Given the description of an element on the screen output the (x, y) to click on. 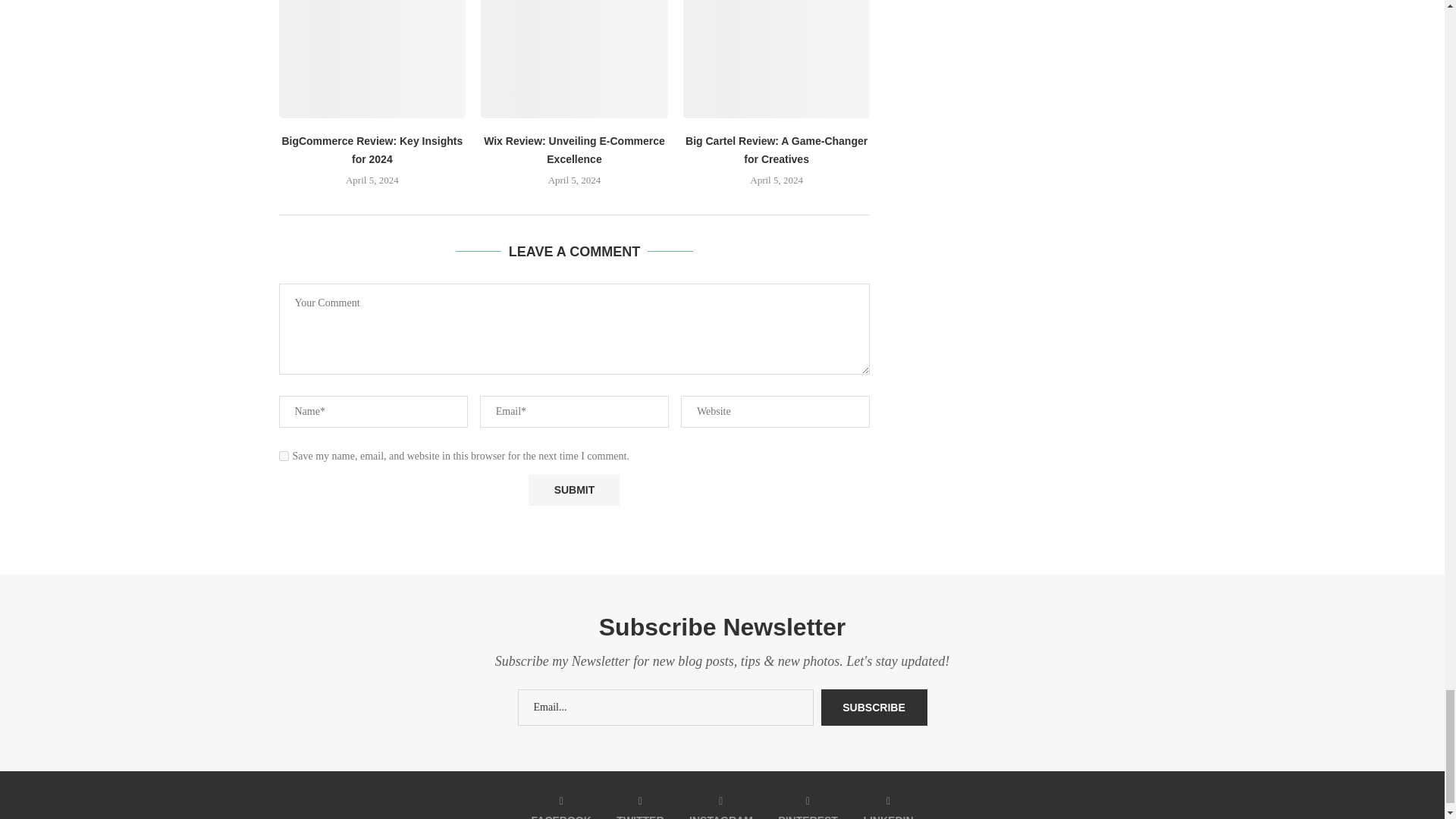
Subscribe (873, 707)
Submit (574, 490)
yes (283, 456)
